Given the description of an element on the screen output the (x, y) to click on. 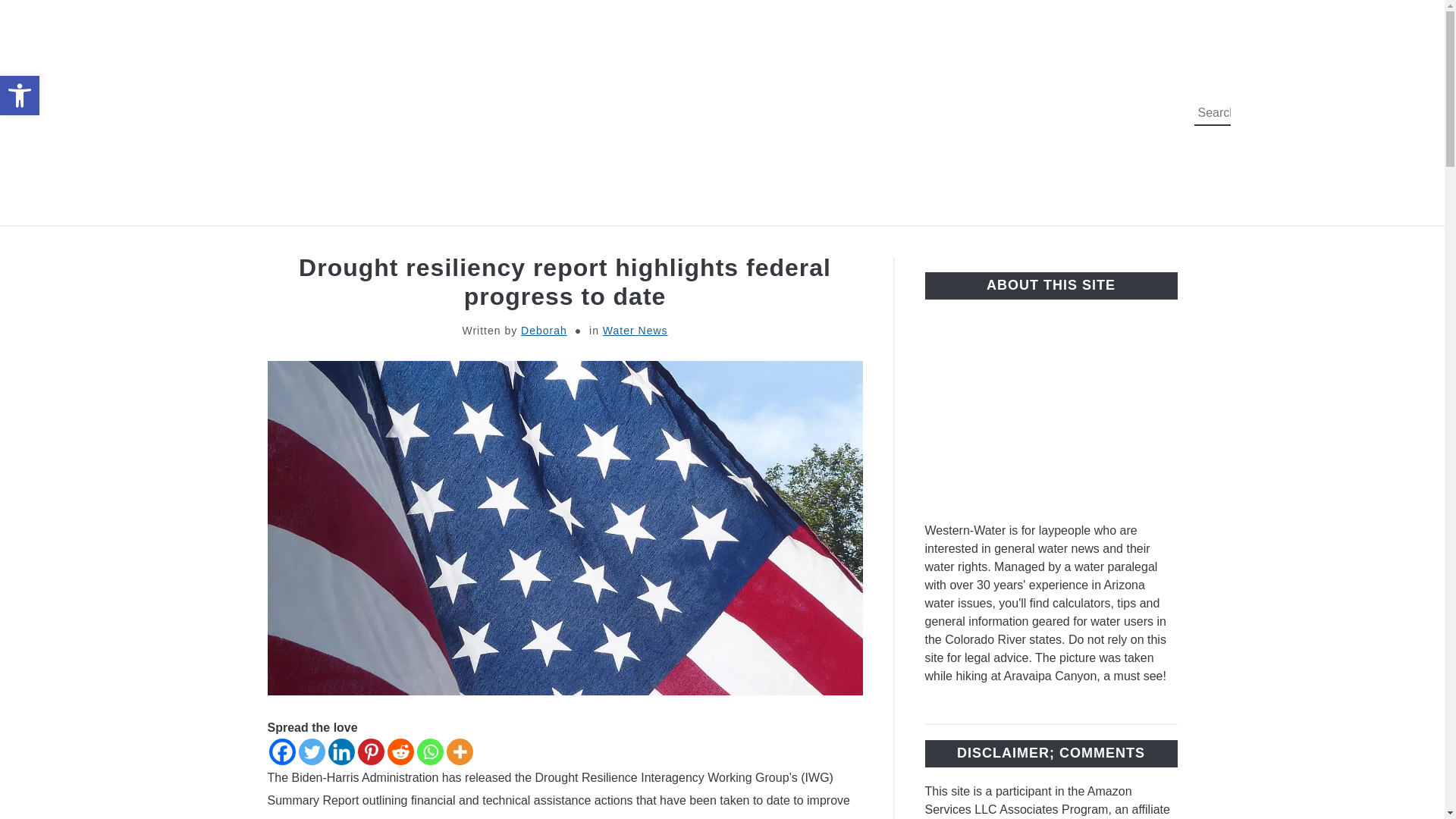
NEWS AND ARTICLES (693, 243)
TAG MAP (976, 243)
Facebook (281, 751)
Linkedin (340, 751)
Accessibility Tools (19, 95)
Reddit (400, 751)
Pinterest (371, 751)
Whatsapp (430, 751)
Calculate GPM, AFA and Other Values (513, 243)
TIPS AND GUIDES (857, 243)
